Given the description of an element on the screen output the (x, y) to click on. 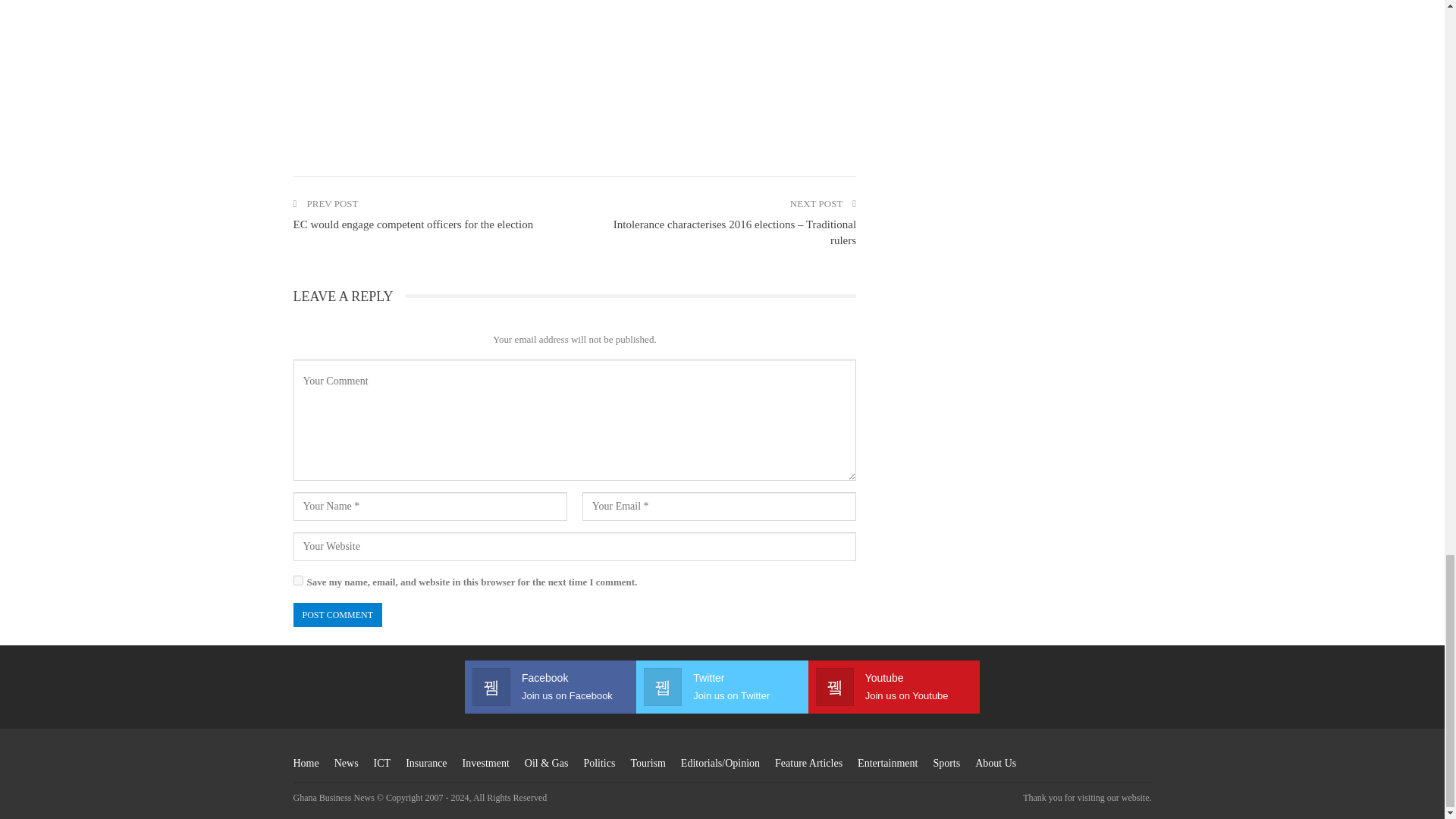
Post Comment (336, 615)
EC would engage competent officers for the election (412, 224)
yes (297, 580)
Post Comment (336, 615)
